Given the description of an element on the screen output the (x, y) to click on. 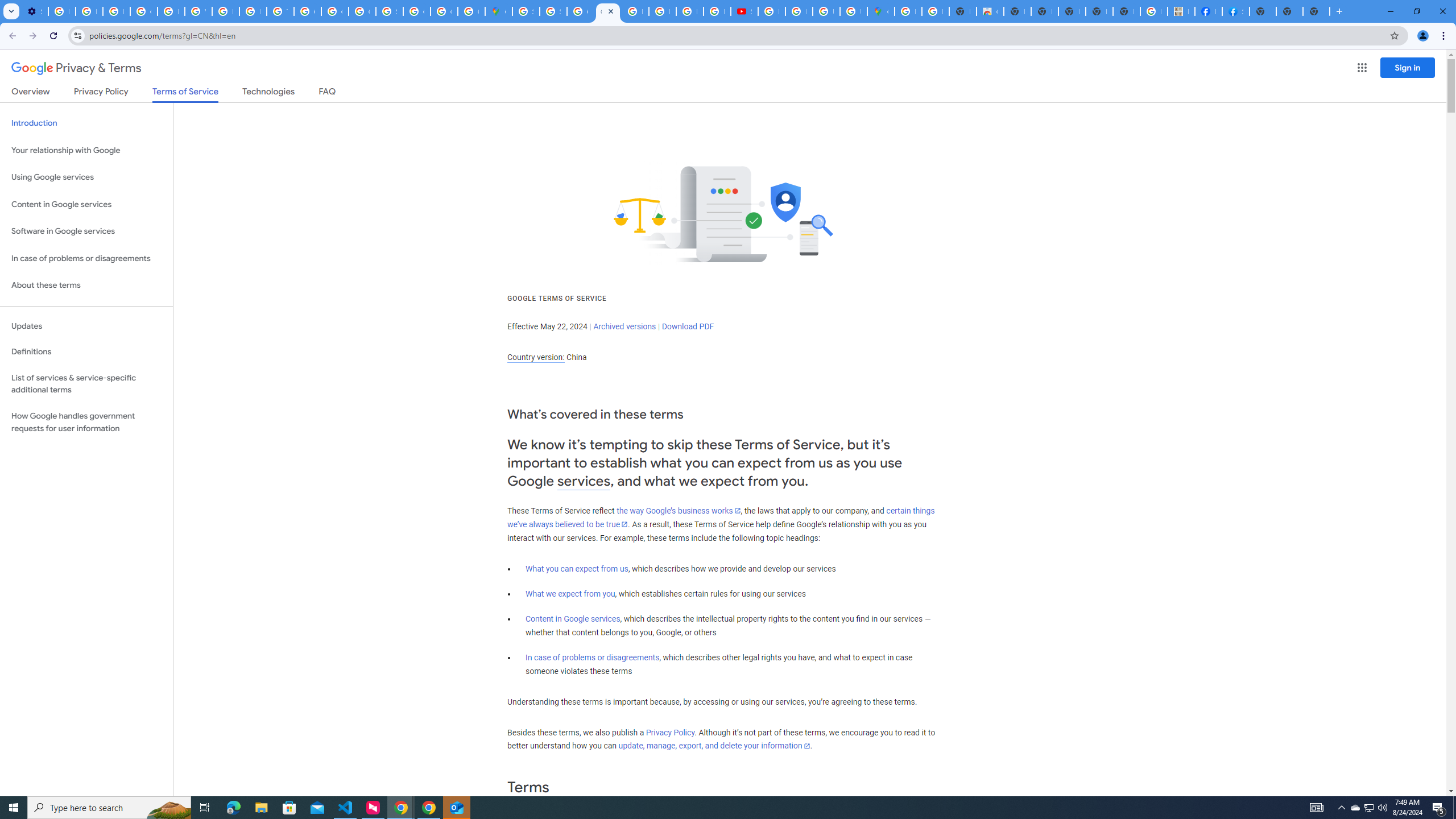
Sign in - Google Accounts (389, 11)
Settings - Customize profile (34, 11)
Your relationship with Google (86, 150)
Software in Google services (86, 230)
Google Maps (880, 11)
Privacy Help Center - Policies Help (662, 11)
